Given the description of an element on the screen output the (x, y) to click on. 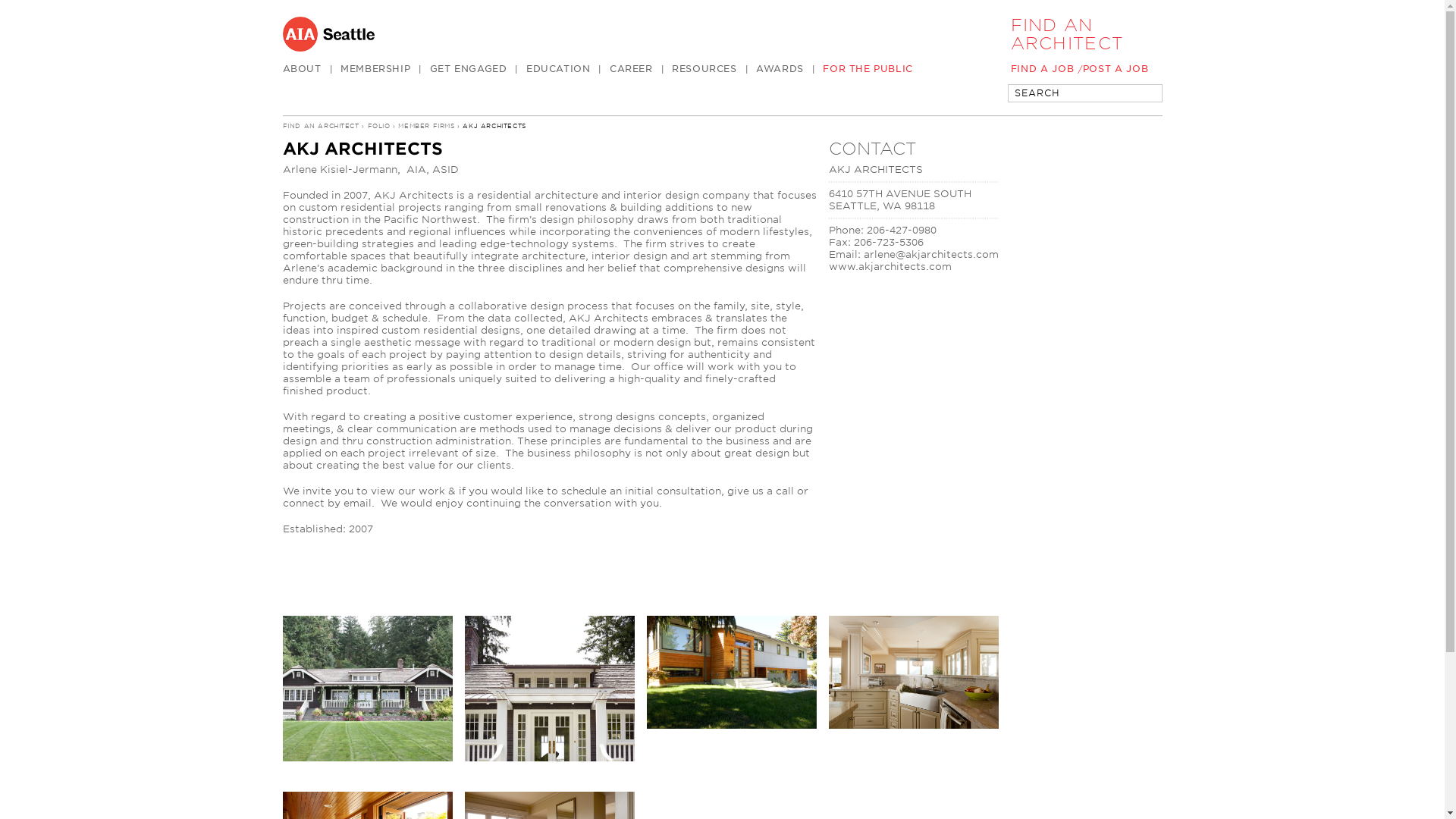
GET ENGAGED (477, 68)
CAREER (640, 68)
EDUCATION (567, 68)
AIA Seattle (633, 33)
roberson11686 (366, 805)
Search (1143, 93)
MEMBERSHIP (384, 68)
trimble11399 (548, 805)
ABOUT (311, 68)
trimble11483 (912, 688)
